Given the description of an element on the screen output the (x, y) to click on. 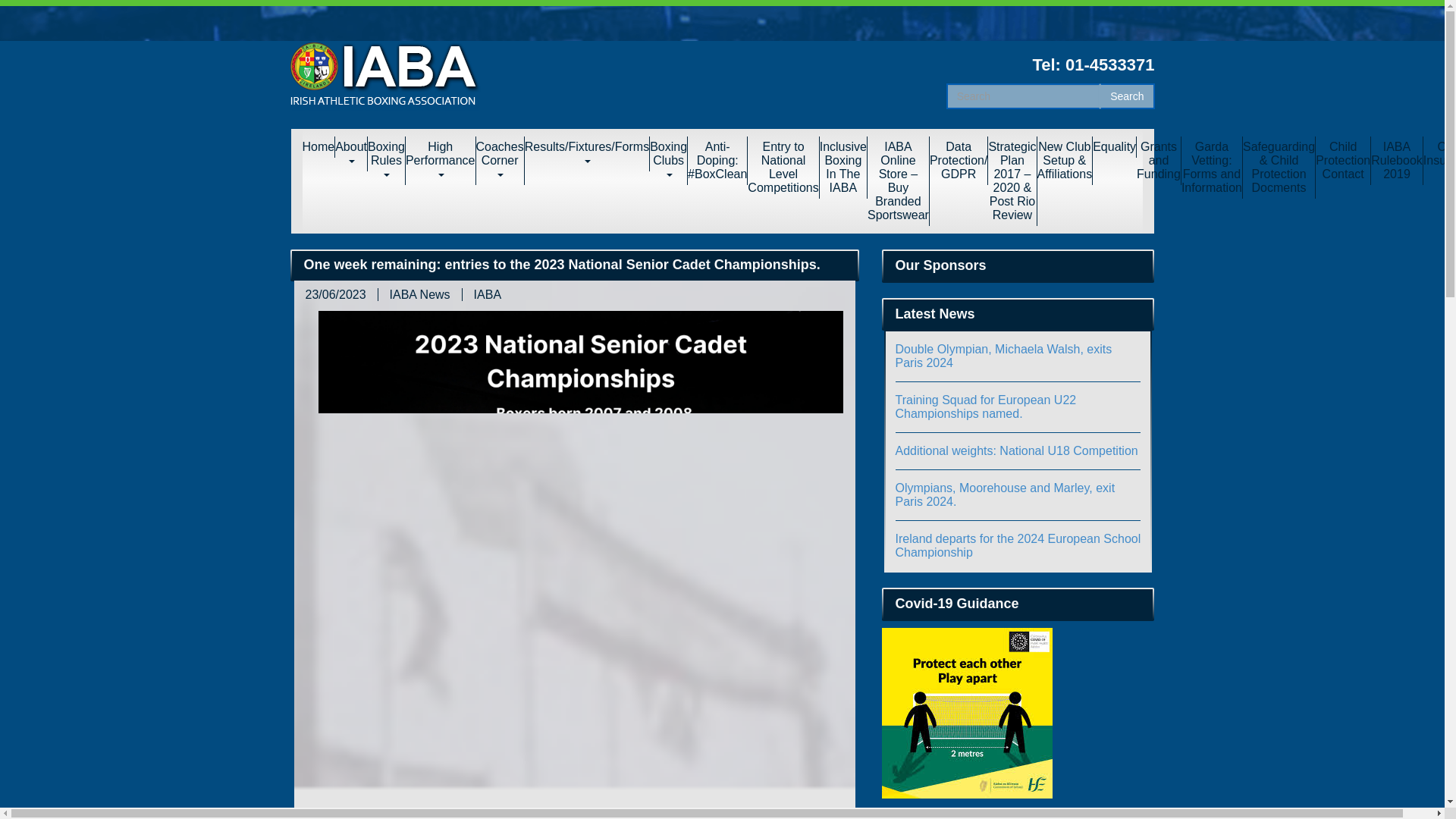
Search (1127, 95)
Search (1127, 95)
Coaches Corner (500, 160)
Search for: (1023, 95)
High Performance (441, 160)
Home (317, 147)
About (351, 153)
Search (1127, 95)
Home (317, 147)
About (351, 153)
